Given the description of an element on the screen output the (x, y) to click on. 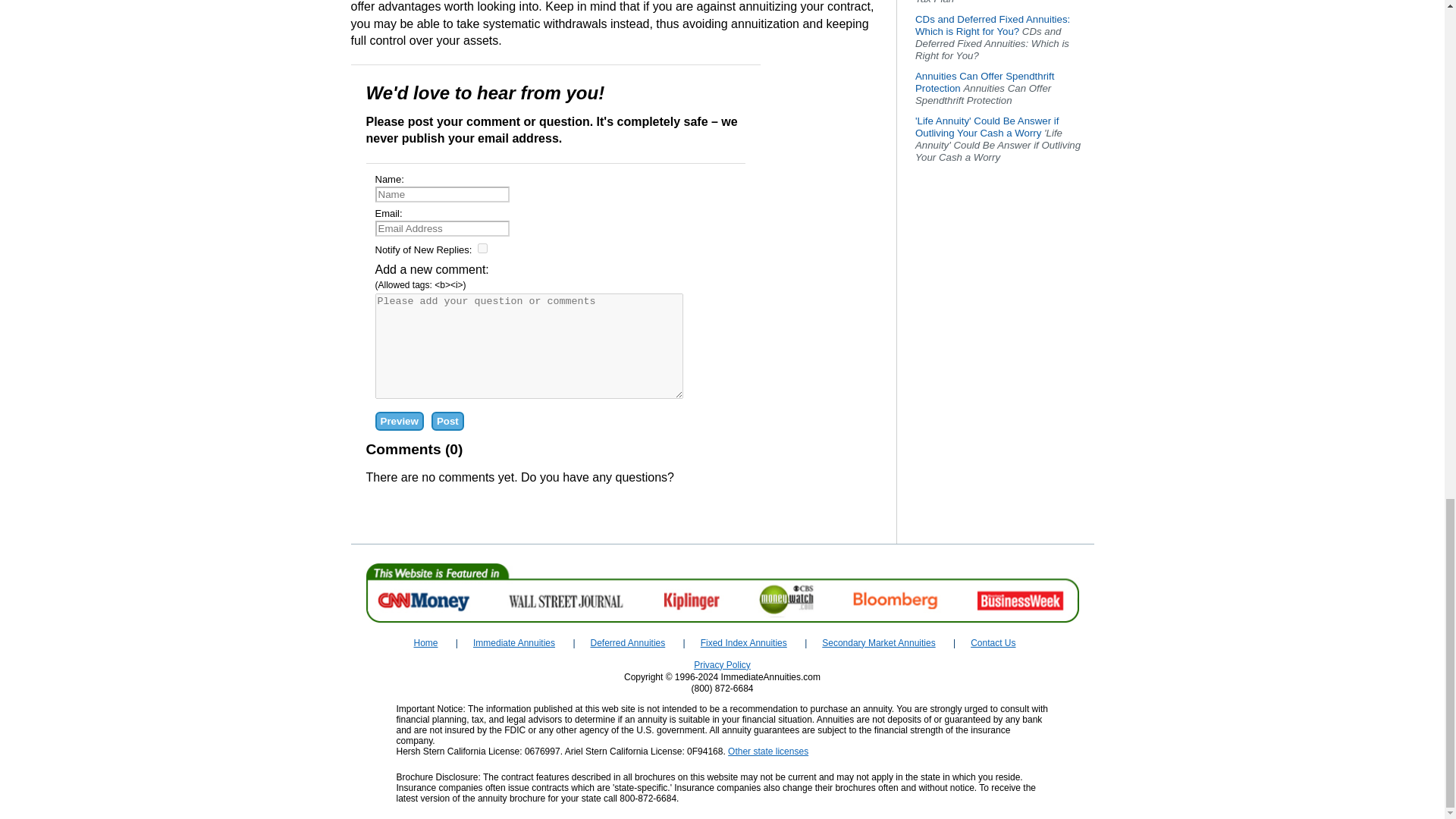
1 (482, 248)
Preview (398, 420)
Post (447, 420)
